Given the description of an element on the screen output the (x, y) to click on. 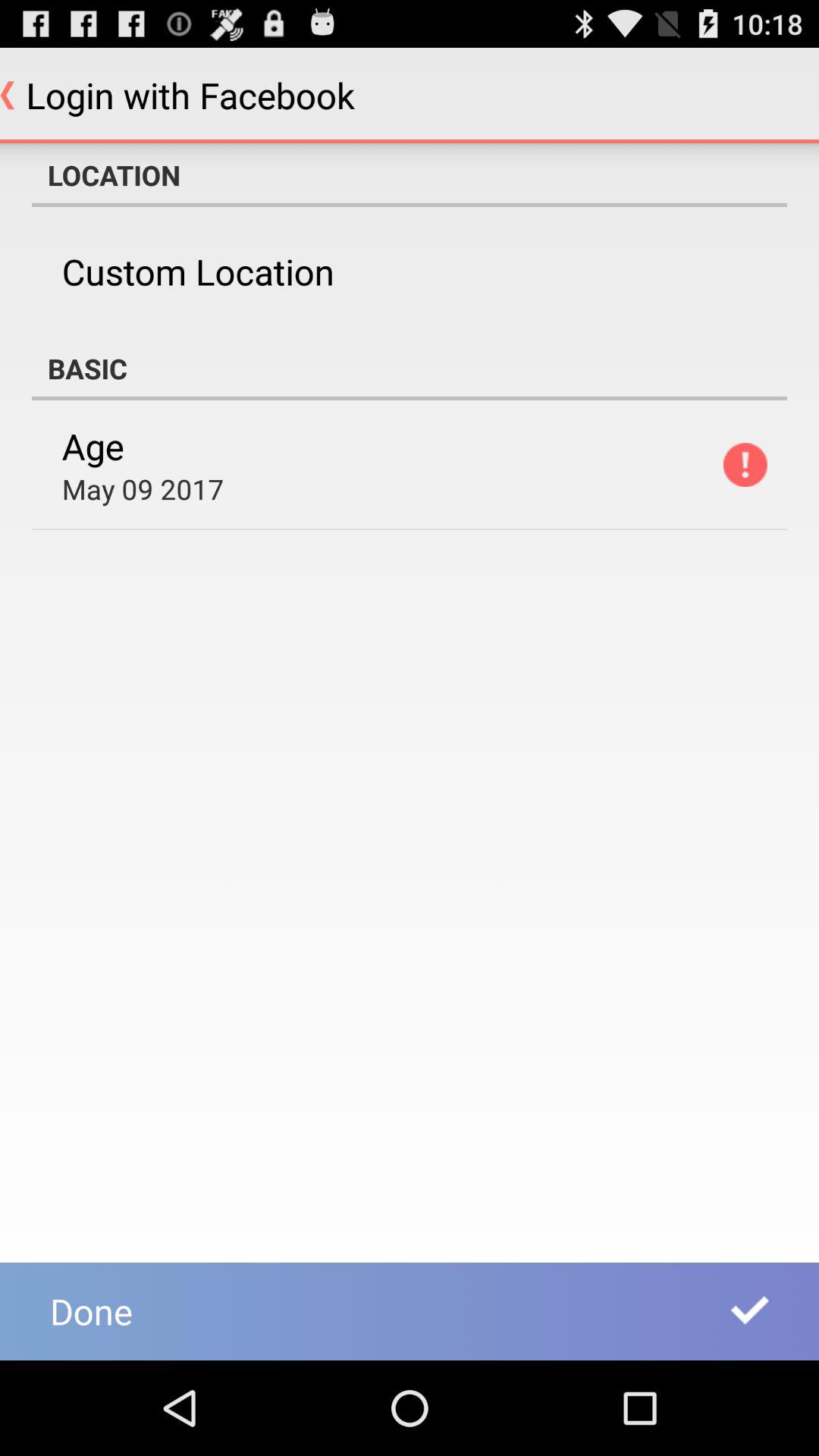
jump to the basic (409, 368)
